Given the description of an element on the screen output the (x, y) to click on. 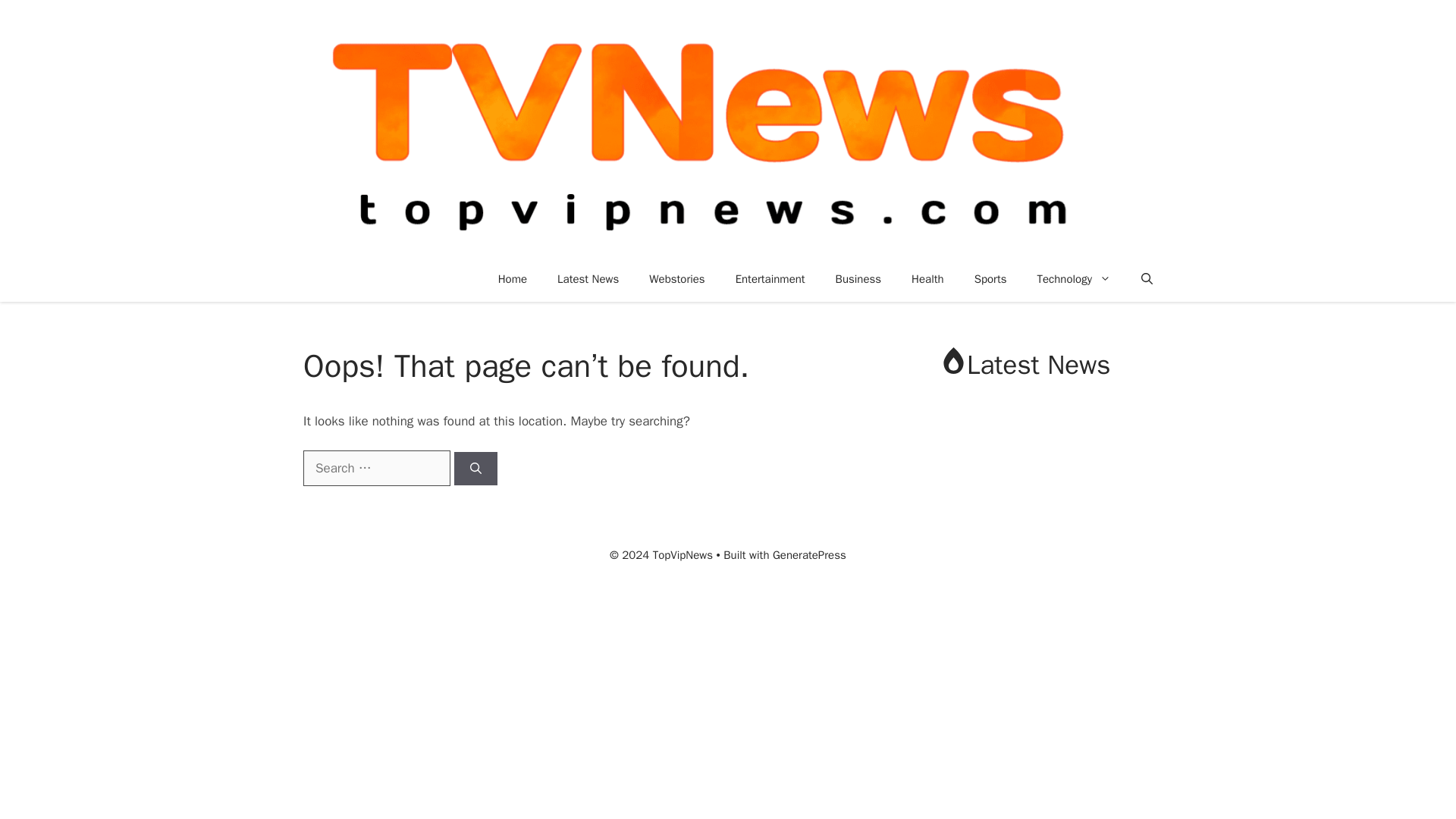
Search for: (375, 468)
Webstories (676, 279)
Business (858, 279)
Health (927, 279)
Technology (1073, 279)
Home (512, 279)
Sports (990, 279)
Latest News (587, 279)
GeneratePress (809, 554)
Entertainment (770, 279)
